Given the description of an element on the screen output the (x, y) to click on. 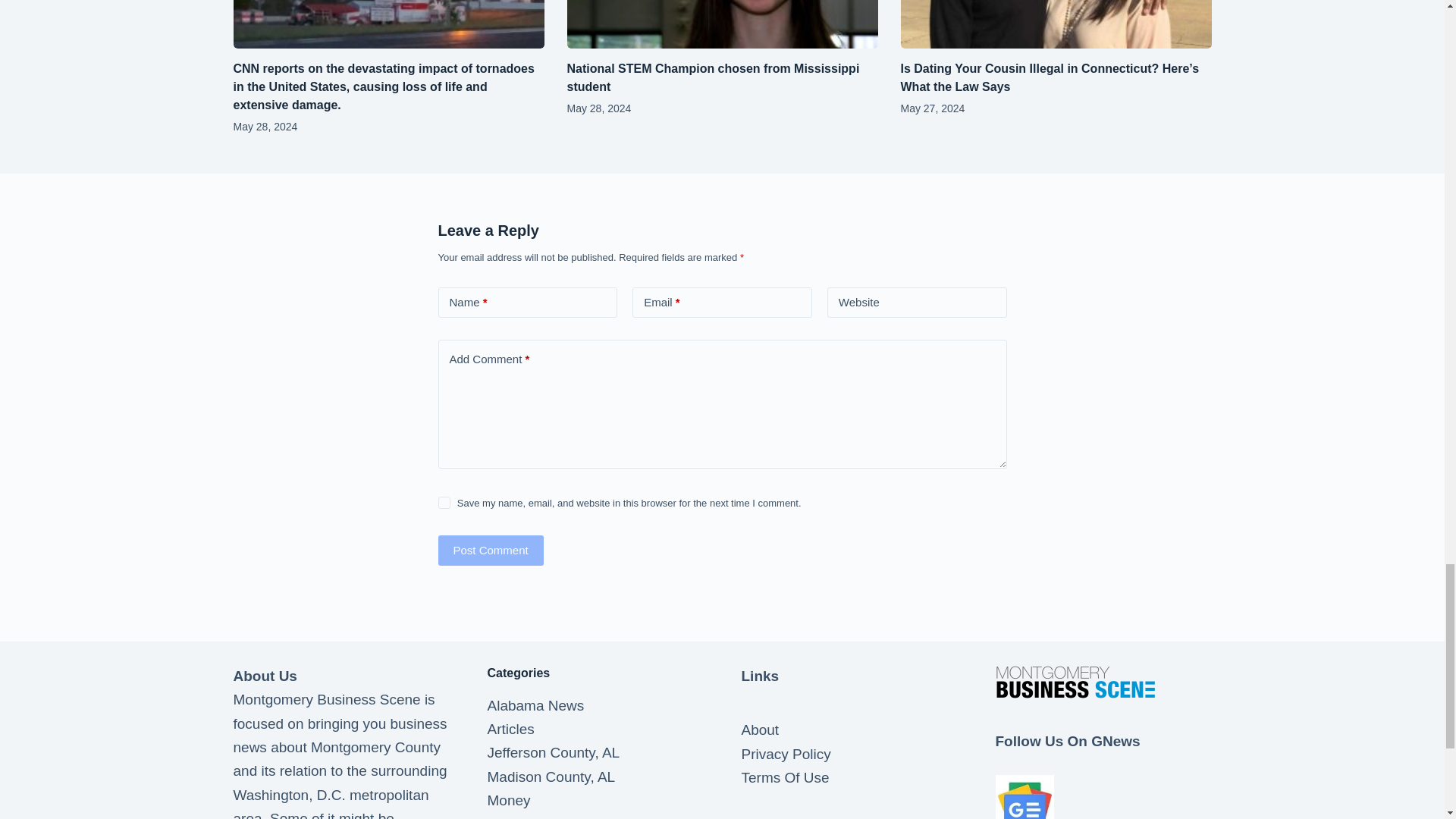
National STEM Champion chosen from Mississippi student (713, 77)
Post Comment (490, 550)
yes (443, 502)
Alabama News (534, 705)
Jefferson County, AL (553, 752)
Articles (510, 729)
